Given the description of an element on the screen output the (x, y) to click on. 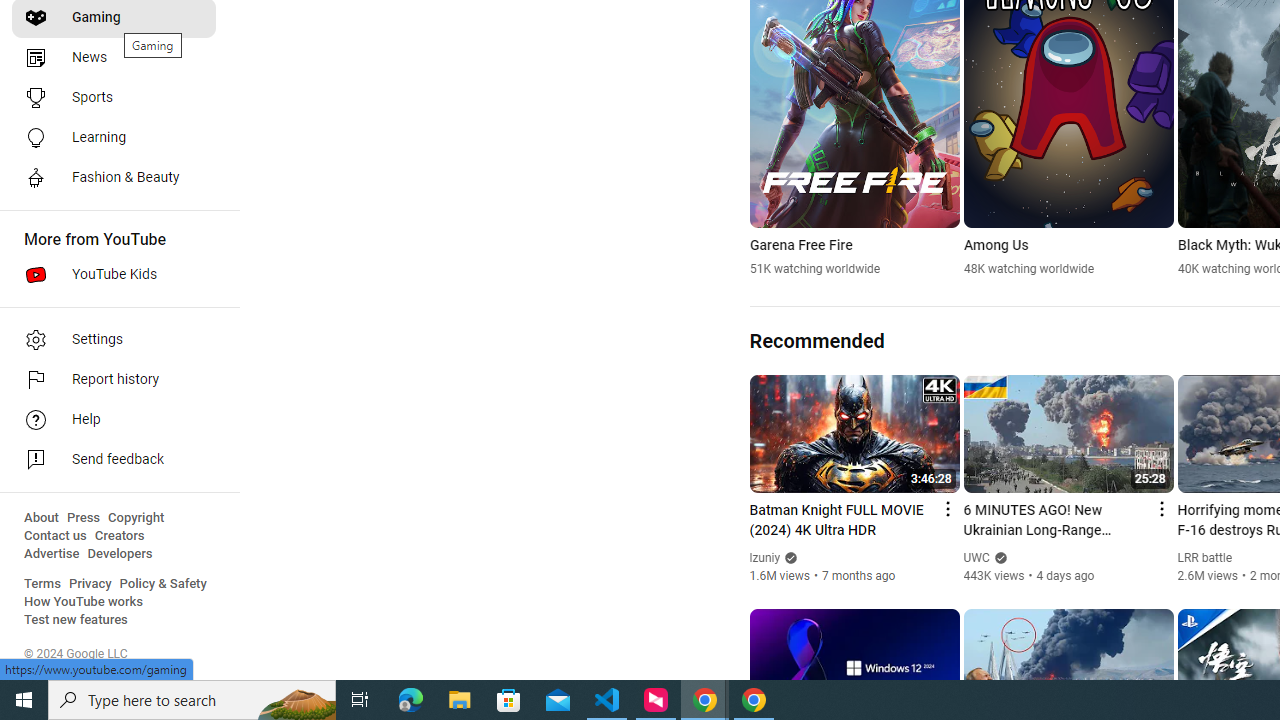
Verified (998, 557)
Contact us (55, 536)
About (41, 518)
Advertise (51, 554)
Report history (113, 380)
lzuniy (765, 557)
UWC (976, 557)
News (113, 57)
LRR battle (1205, 557)
Action menu (1160, 508)
Send feedback (113, 459)
YouTube Kids (113, 274)
